Given the description of an element on the screen output the (x, y) to click on. 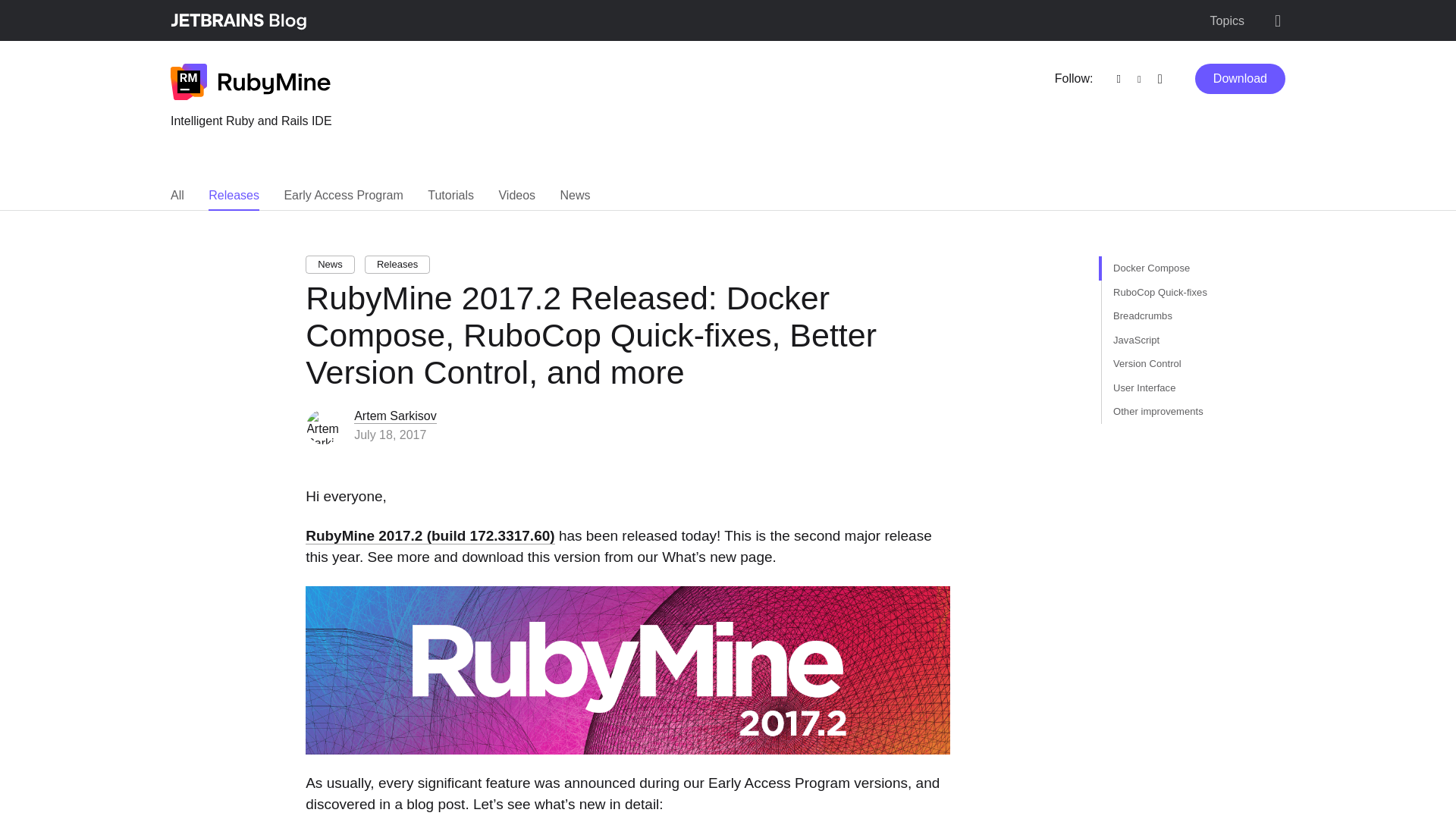
Topics (1226, 21)
